Given the description of an element on the screen output the (x, y) to click on. 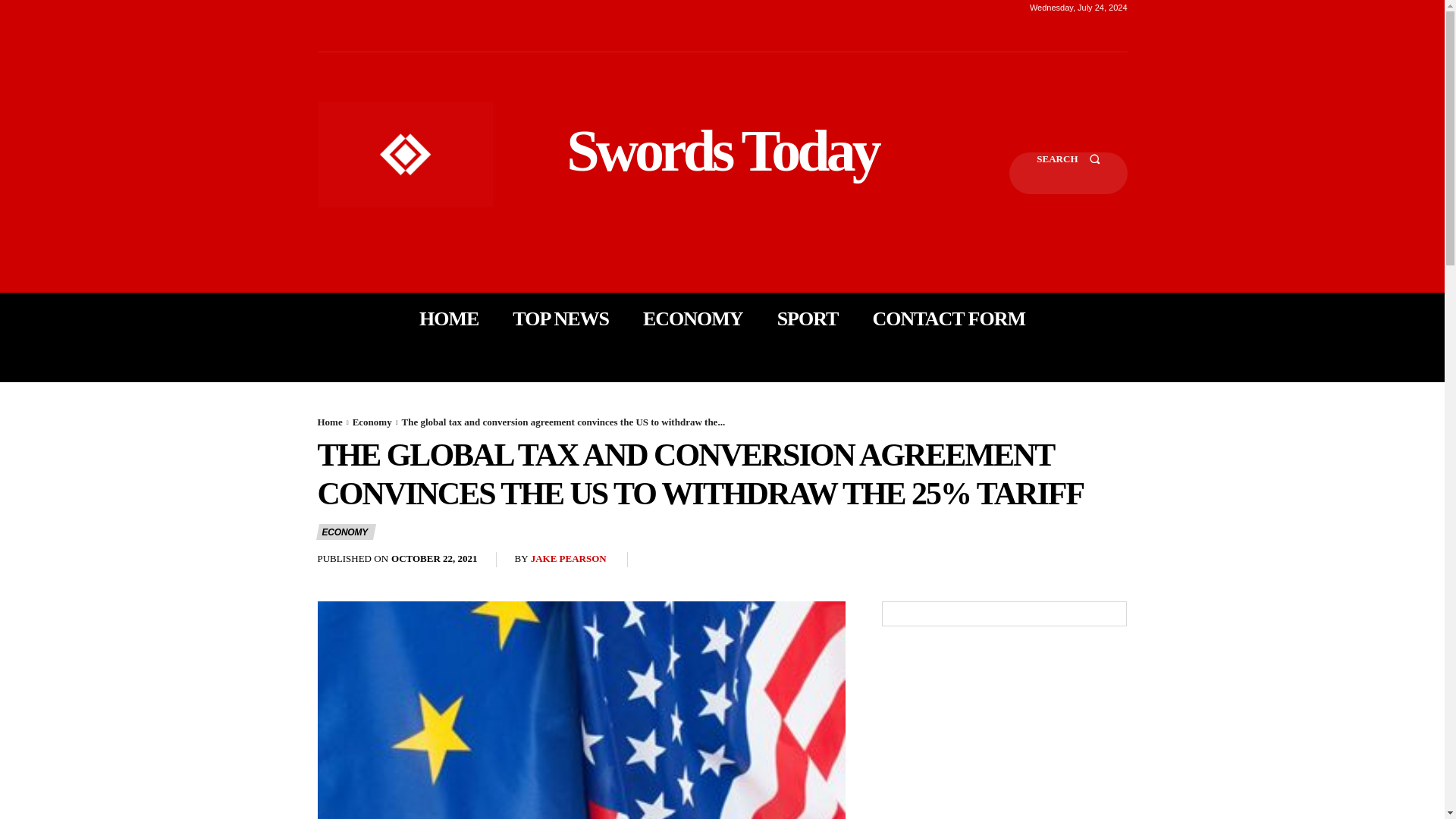
JAKE PEARSON (569, 558)
HOME (449, 318)
Economy (371, 421)
Search (1067, 173)
Home (329, 421)
ECONOMY (345, 531)
SEARCH (1067, 173)
SPORT (807, 318)
View all posts in Economy (371, 421)
CONTACT FORM (948, 318)
Swords Today (722, 149)
TOP NEWS (560, 318)
ECONOMY (692, 318)
The global tax and conversion agreement convinces the US to (580, 710)
